Given the description of an element on the screen output the (x, y) to click on. 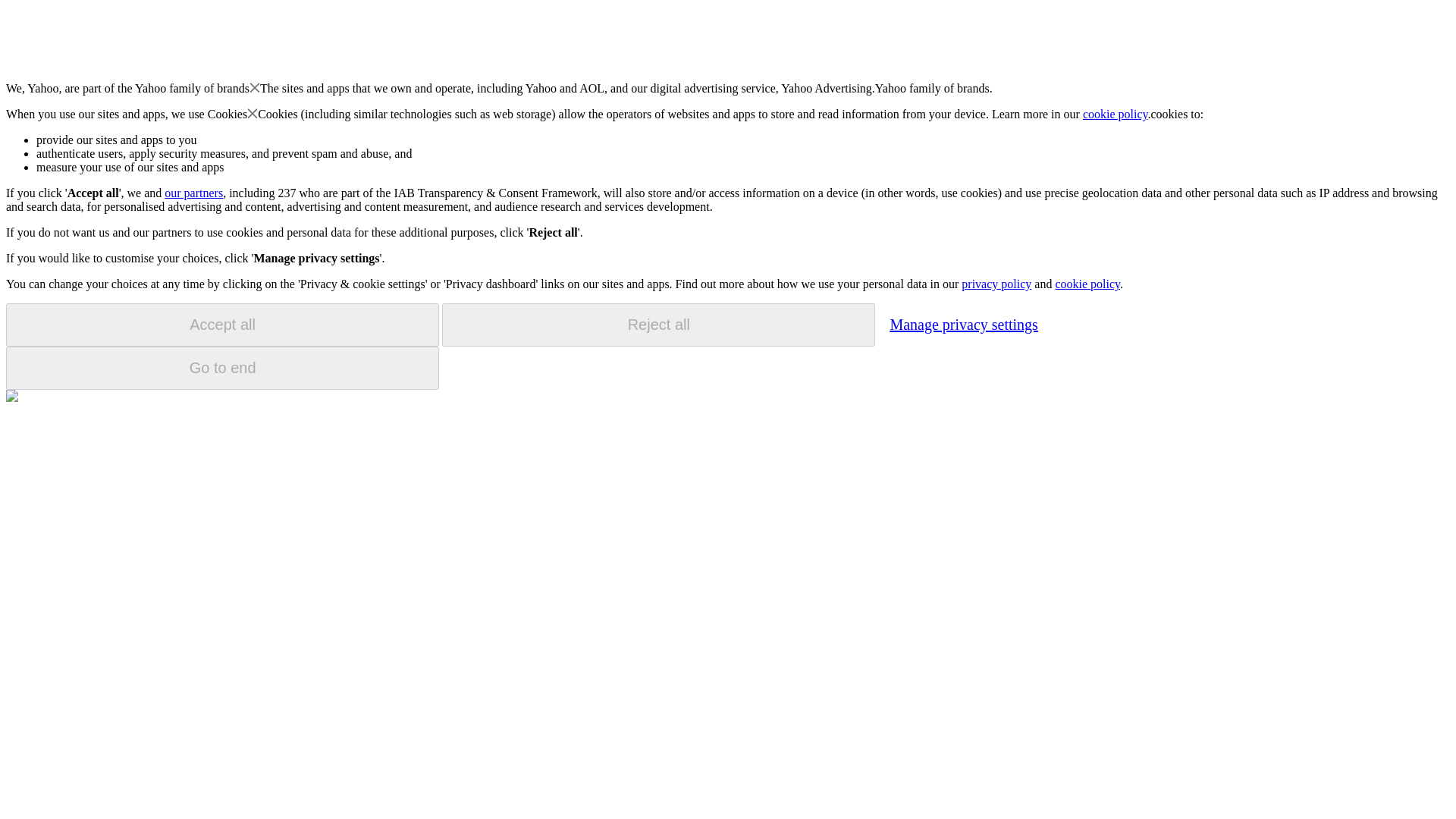
privacy policy (995, 283)
Go to end (222, 367)
Manage privacy settings (963, 323)
cookie policy (1086, 283)
our partners (193, 192)
Accept all (222, 324)
Reject all (658, 324)
cookie policy (1115, 113)
